Given the description of an element on the screen output the (x, y) to click on. 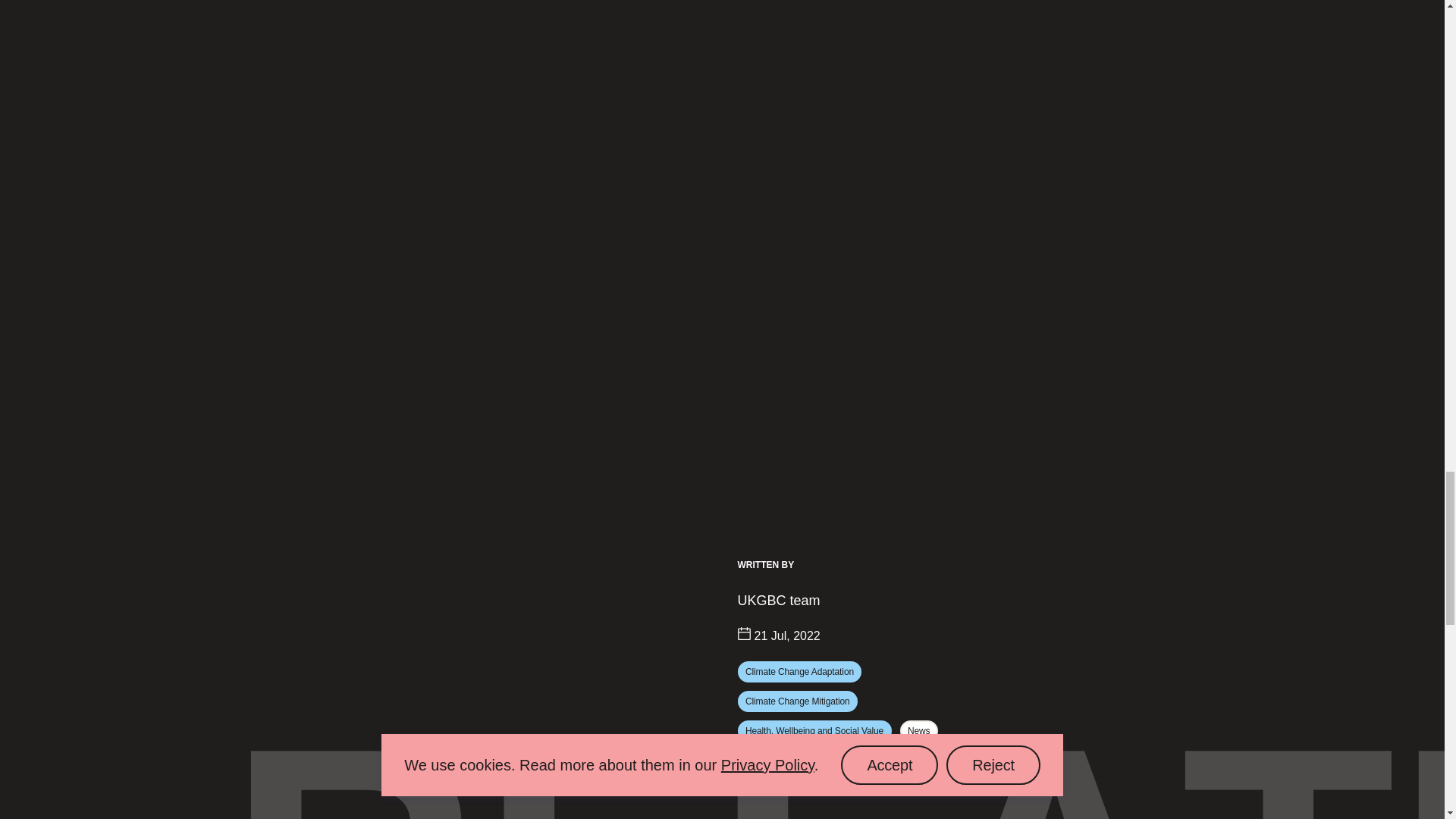
Climate Change Adaptation (798, 671)
Health, Wellbeing and Social Value (813, 731)
Climate Change Mitigation (796, 701)
